Given the description of an element on the screen output the (x, y) to click on. 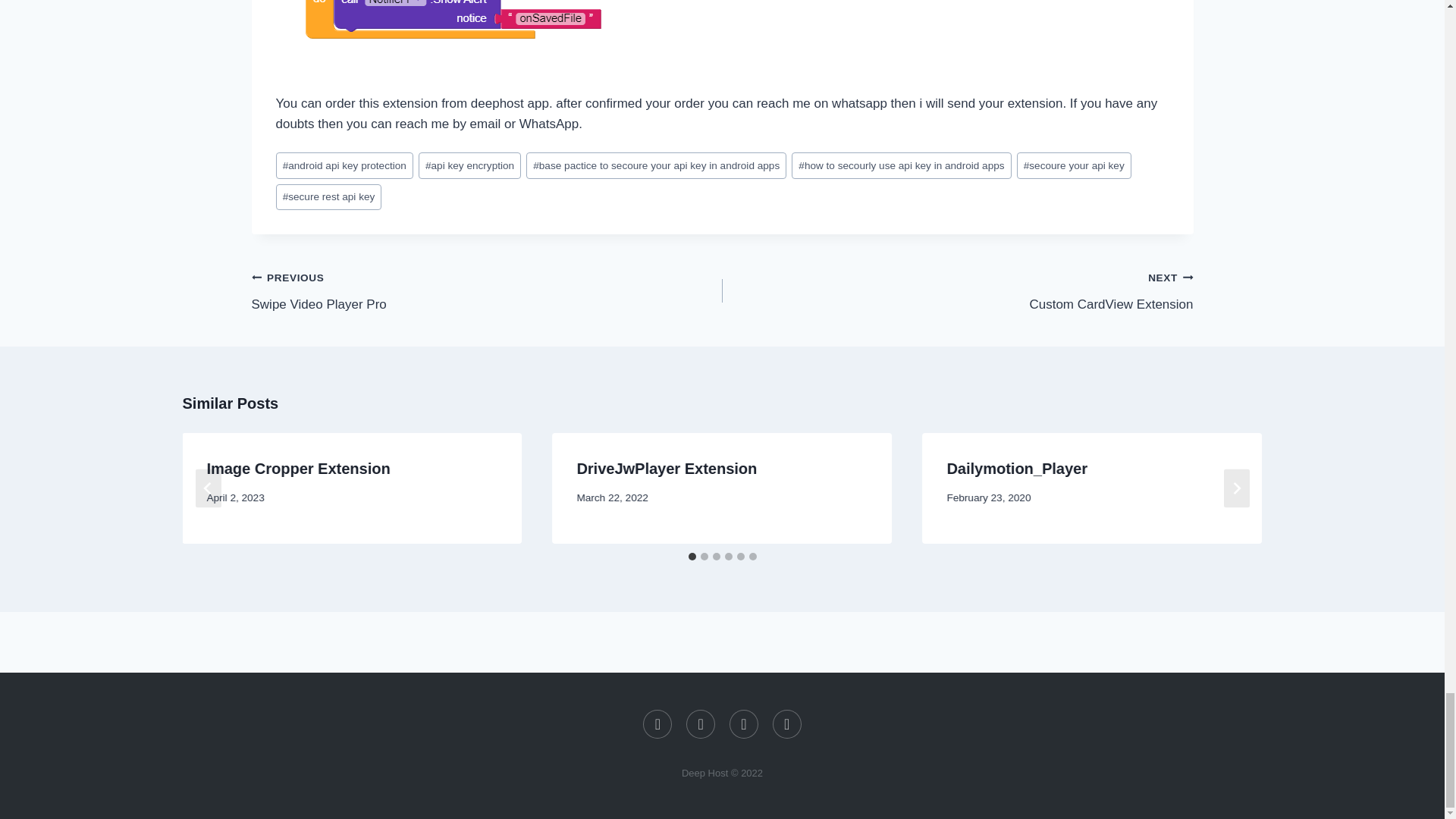
secoure your api key (1073, 165)
api key encryption (470, 165)
base pactice to secoure your api key in android apps (655, 165)
Image Cropper Extension (298, 468)
android api key protection (344, 165)
secure rest api key (957, 290)
DriveJwPlayer Extension (328, 197)
how to secourly use api key in android apps (666, 468)
